Given the description of an element on the screen output the (x, y) to click on. 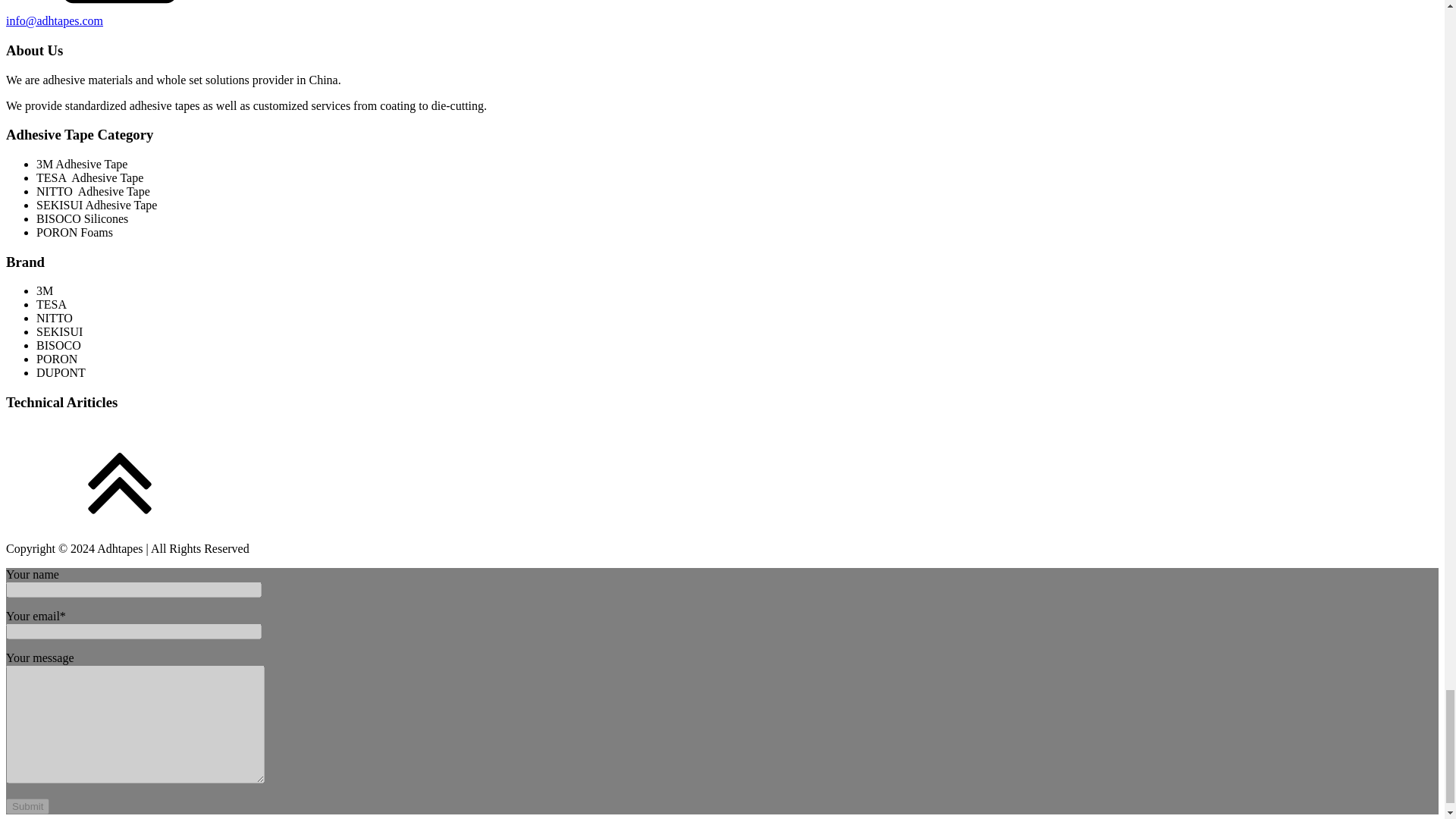
Submit (27, 806)
Submit (27, 806)
